Given the description of an element on the screen output the (x, y) to click on. 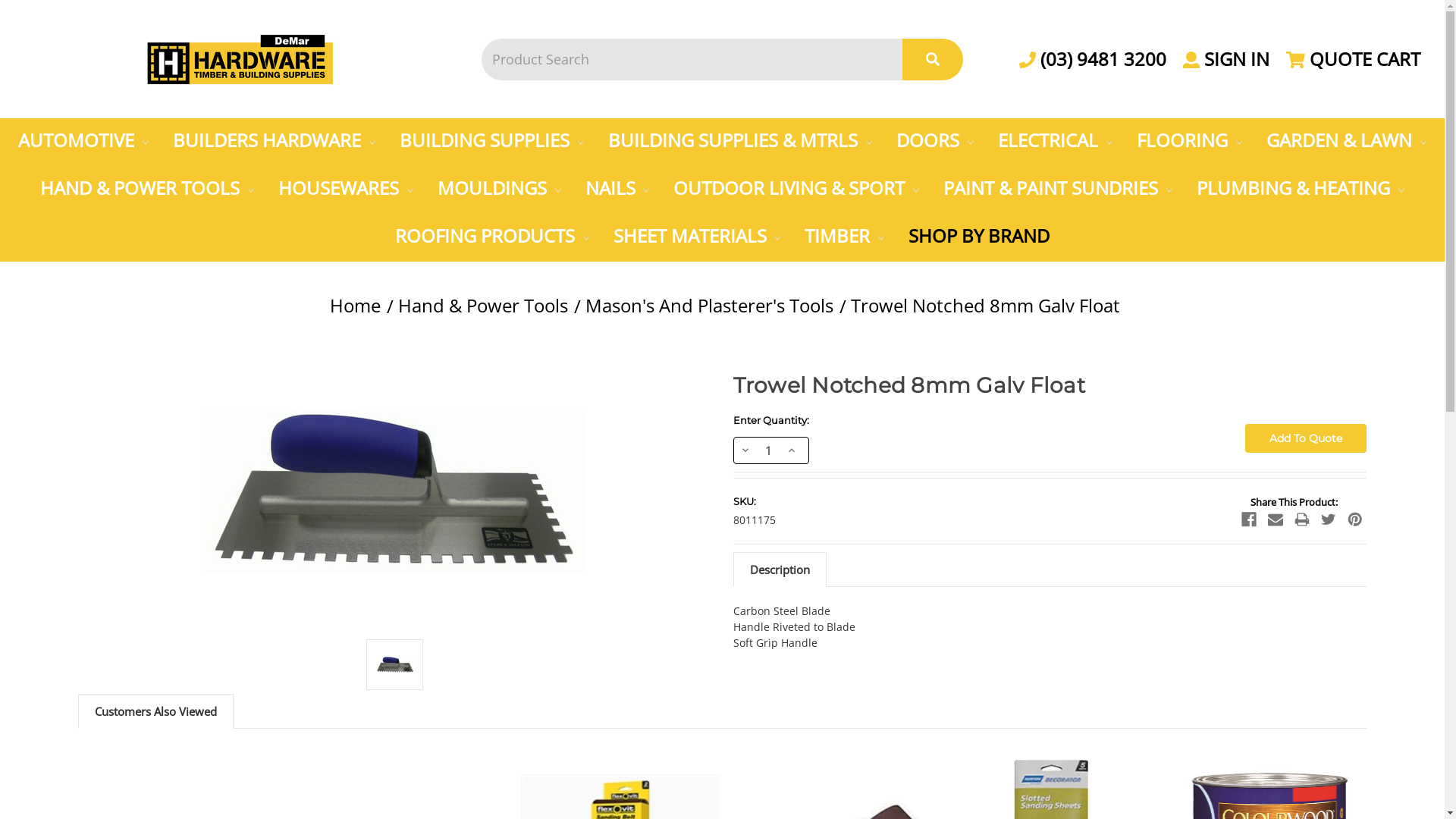
HOUSEWARES Element type: text (345, 189)
Increase Quantity: Element type: text (791, 450)
Description Element type: text (779, 569)
SHEET MATERIALS Element type: text (696, 237)
FLOORING Element type: text (1189, 142)
ROOFING PRODUCTS Element type: text (491, 237)
Mason's And Plasterer's Tools Element type: text (709, 304)
NAILS Element type: text (617, 189)
PLUMBING & HEATING Element type: text (1300, 189)
Demar H Hardware Element type: hover (240, 59)
MOULDINGS Element type: text (499, 189)
(03) 9481 3200 Element type: text (1092, 58)
AUTOMOTIVE Element type: text (83, 142)
PAINT & PAINT SUNDRIES Element type: text (1057, 189)
ELECTRICAL Element type: text (1054, 142)
Customers Also Viewed Element type: text (155, 711)
Home Element type: text (354, 304)
SHOP BY BRAND Element type: text (978, 237)
BUILDING SUPPLIES Element type: text (491, 142)
DOORS Element type: text (934, 142)
Add To Quote Element type: text (1305, 437)
QUOTE CART Element type: text (1352, 58)
Trowel Notched 8mm Galv Float Element type: hover (395, 664)
BUILDERS HARDWARE Element type: text (273, 142)
Hand & Power Tools Element type: text (482, 304)
Trowel Notched 8mm Galv Float Element type: text (985, 304)
HAND & POWER TOOLS Element type: text (147, 189)
OUTDOOR LIVING & SPORT Element type: text (796, 189)
SIGN IN Element type: text (1225, 58)
TIMBER Element type: text (844, 237)
Decrease Quantity: Element type: text (745, 450)
GARDEN & LAWN Element type: text (1346, 142)
BUILDING SUPPLIES & MTRLS Element type: text (740, 142)
